Given the description of an element on the screen output the (x, y) to click on. 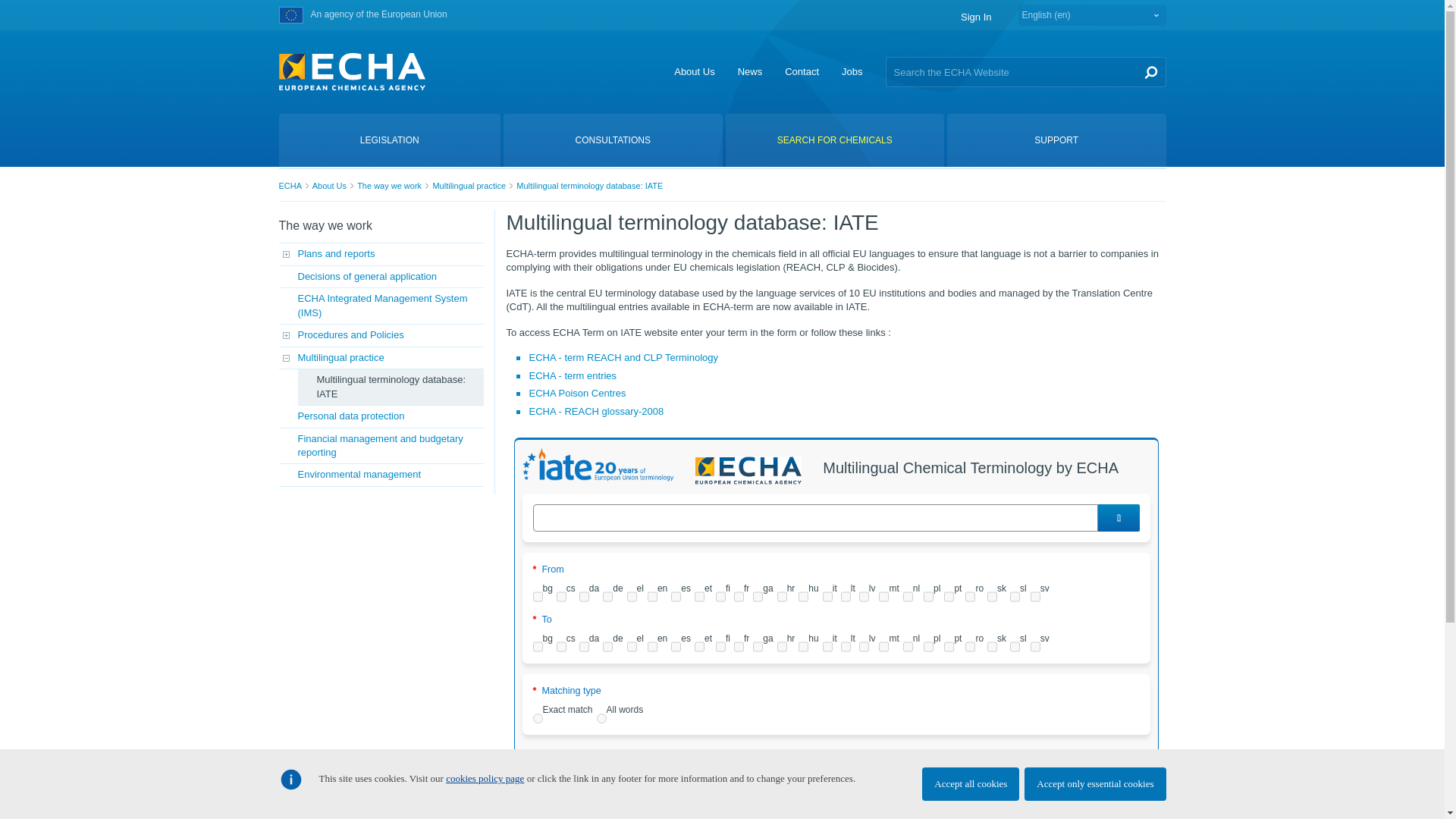
es (676, 596)
hr (782, 596)
lv (864, 596)
About Us (694, 71)
Accept all cookies (970, 783)
Search (1149, 71)
Visit the official website of the European Union (290, 14)
cookies policy page (484, 778)
lt (845, 596)
News (750, 71)
bg (536, 596)
Accept only essential cookies (1095, 783)
cs (561, 596)
Jobs (851, 71)
fr (738, 596)
